Given the description of an element on the screen output the (x, y) to click on. 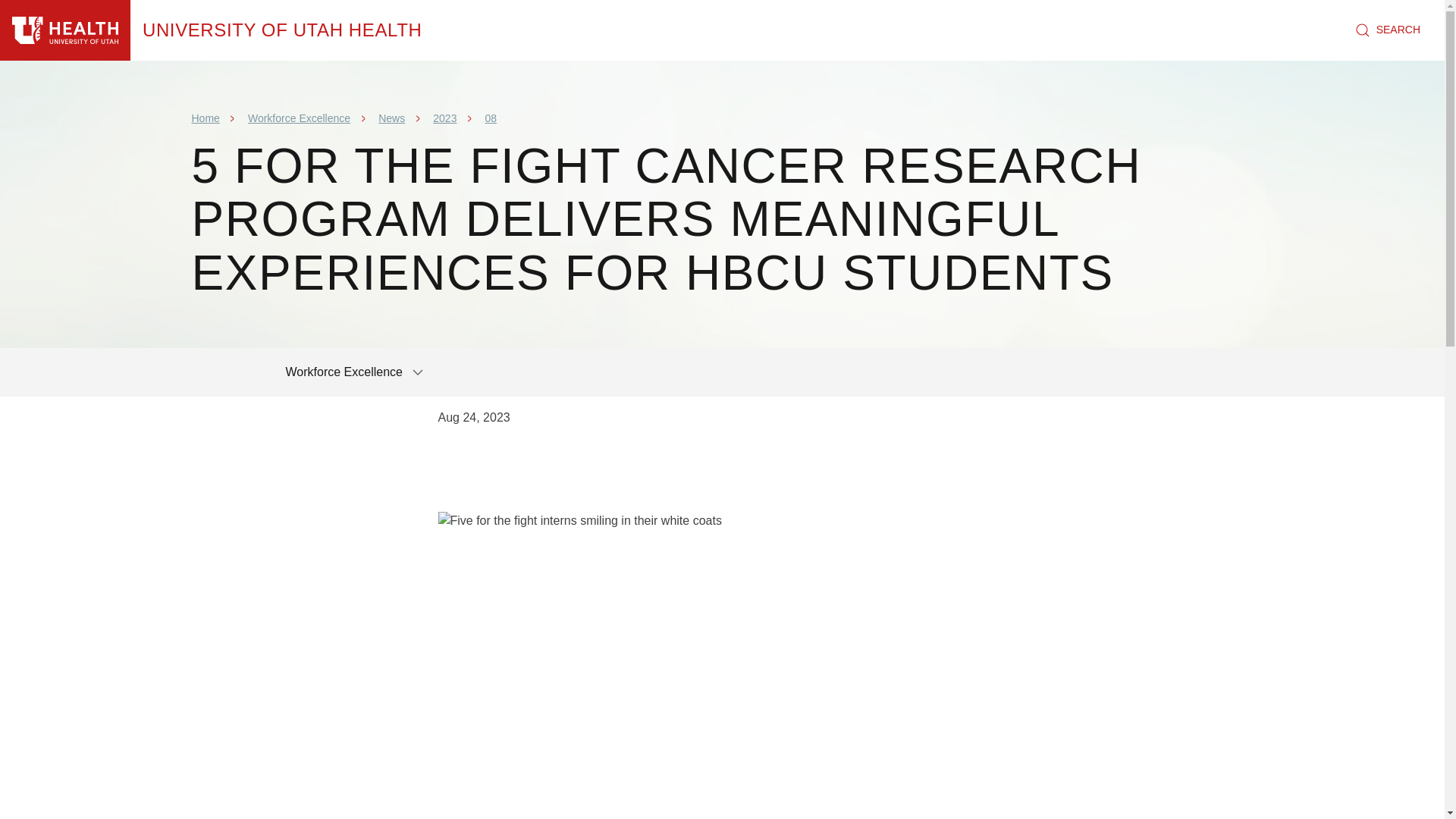
Workforce Excellence (298, 118)
Workforce Excellence (355, 372)
News (391, 118)
Home (204, 118)
2023 (444, 118)
UNIVERSITY OF UTAH HEALTH (282, 30)
Home (282, 30)
Home (65, 30)
08 (490, 118)
SEARCH (1387, 30)
